Given the description of an element on the screen output the (x, y) to click on. 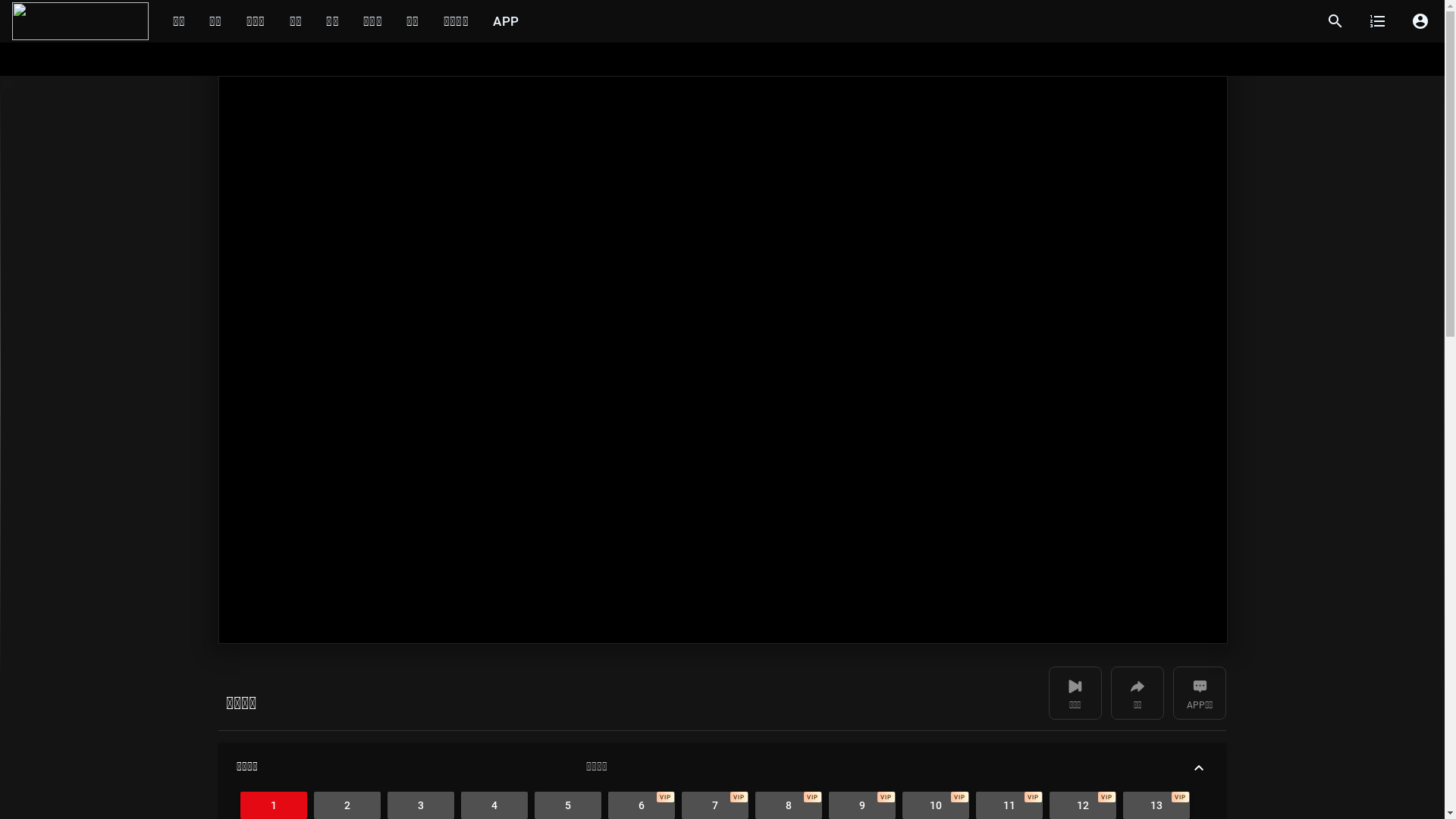
APP Element type: text (505, 21)
format_list_numbered Element type: text (1377, 21)
search Element type: text (1335, 21)
account_circle Element type: text (1420, 21)
